Given the description of an element on the screen output the (x, y) to click on. 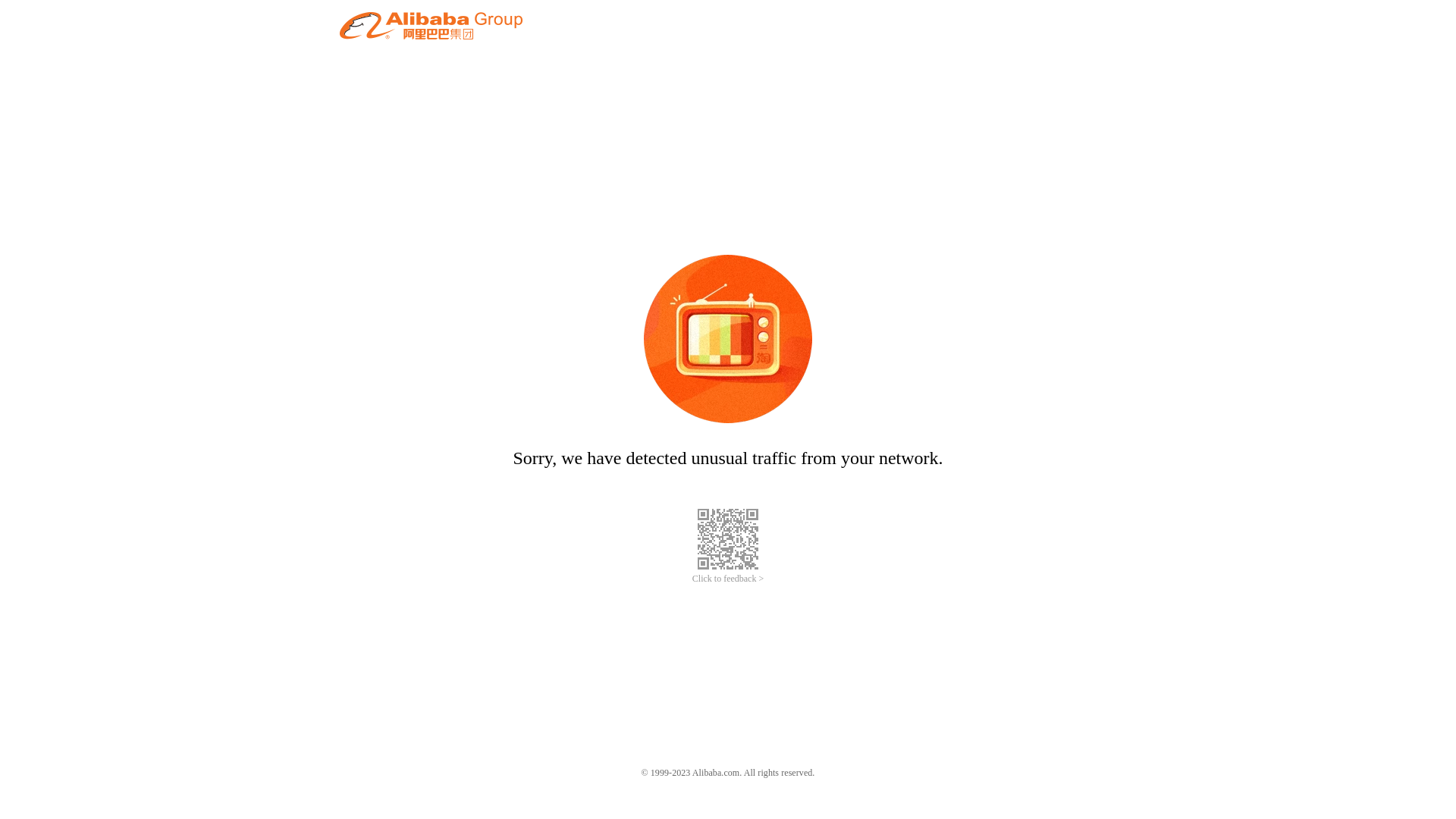
Click to feedback > Element type: text (727, 578)
